Given the description of an element on the screen output the (x, y) to click on. 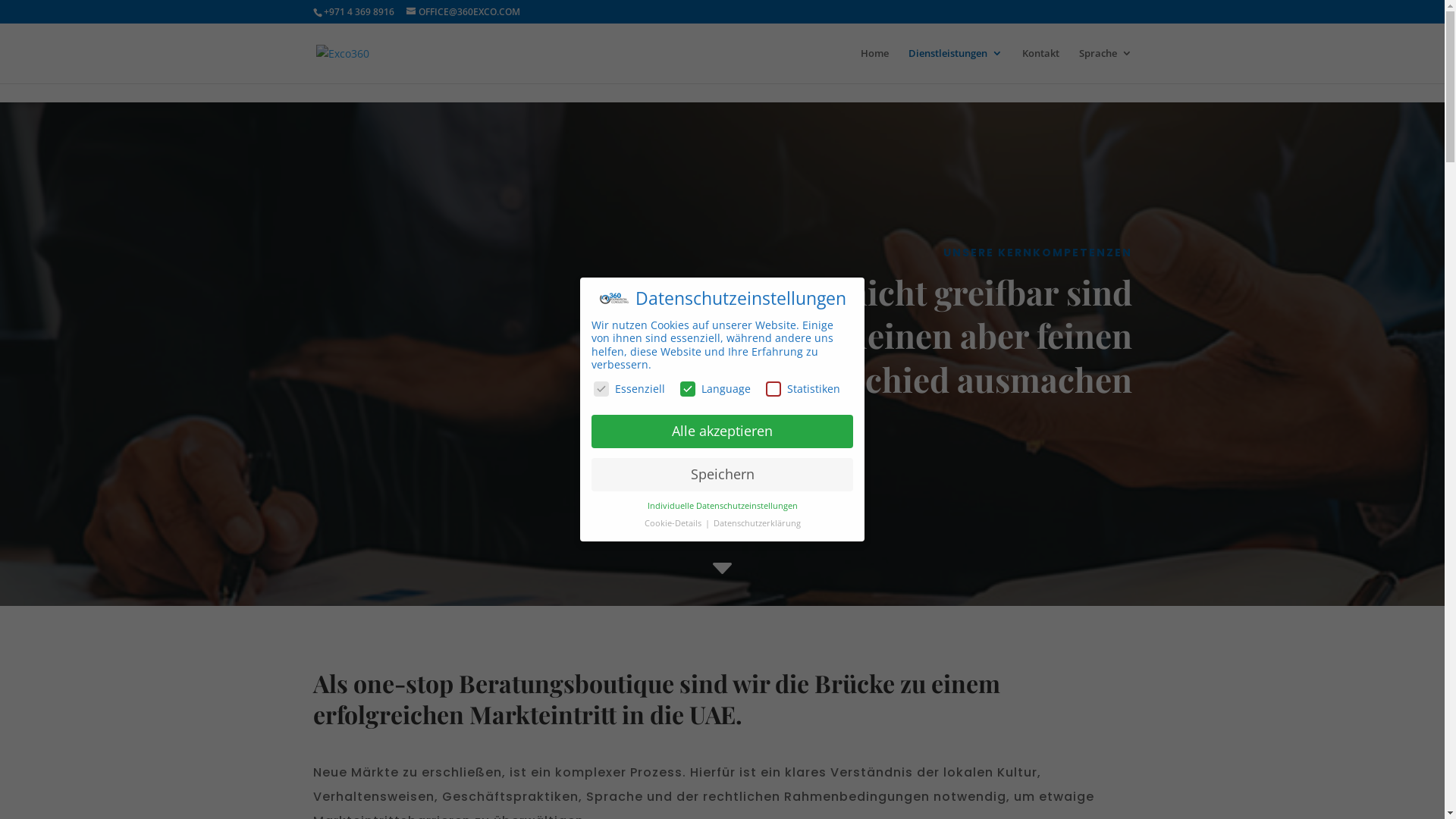
C Element type: text (721, 570)
Kontakt Element type: text (1040, 65)
Home Element type: text (873, 65)
Speichern Element type: text (722, 474)
Individuelle Datenschutzeinstellungen Element type: text (722, 505)
OFFICE@360EXCO.COM Element type: text (463, 11)
Sprache Element type: text (1104, 65)
Alle akzeptieren Element type: text (722, 431)
Dienstleistungen Element type: text (955, 65)
Cookie-Details Element type: text (673, 522)
